Given the description of an element on the screen output the (x, y) to click on. 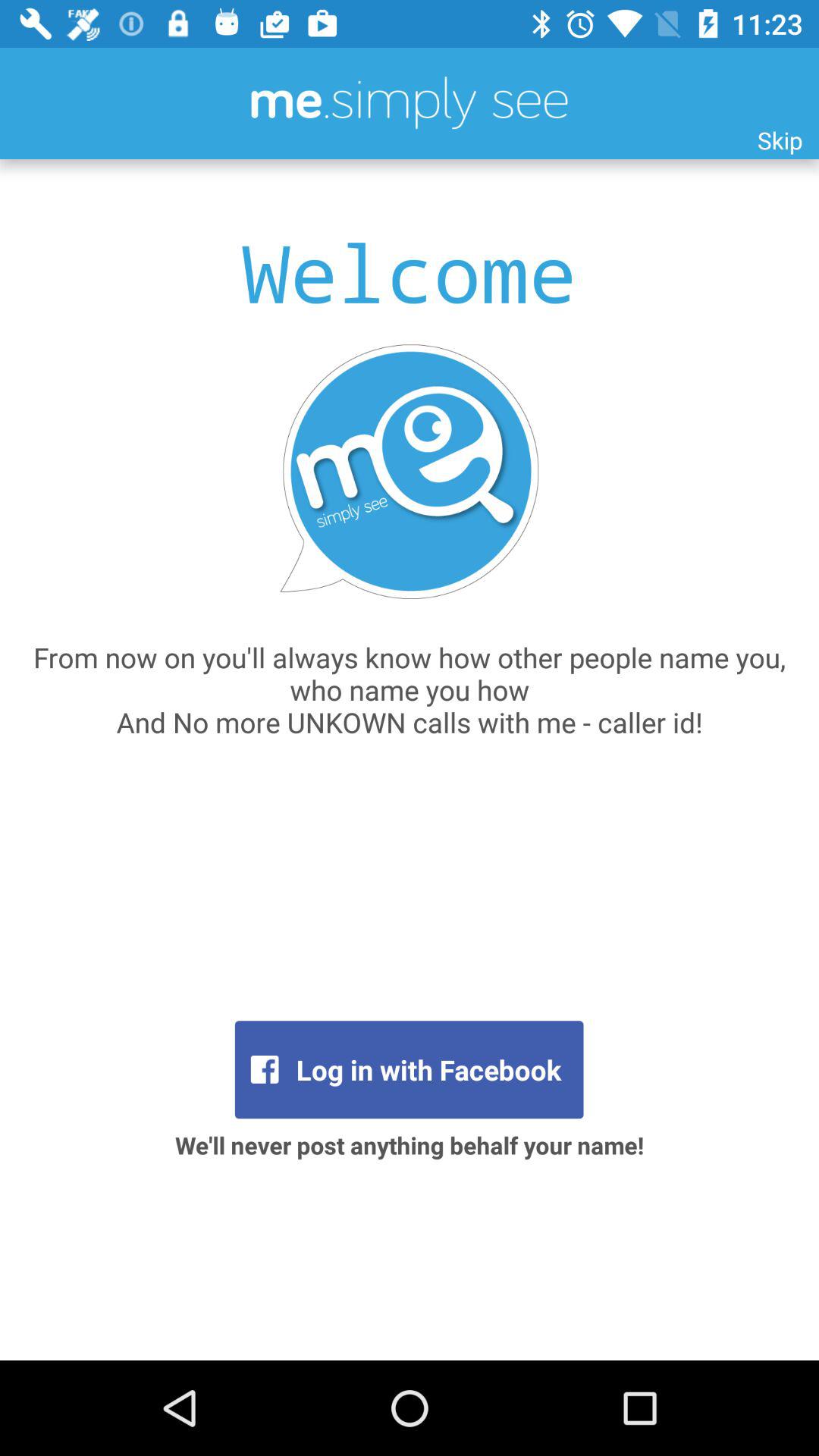
scroll until the log in with item (408, 1069)
